Given the description of an element on the screen output the (x, y) to click on. 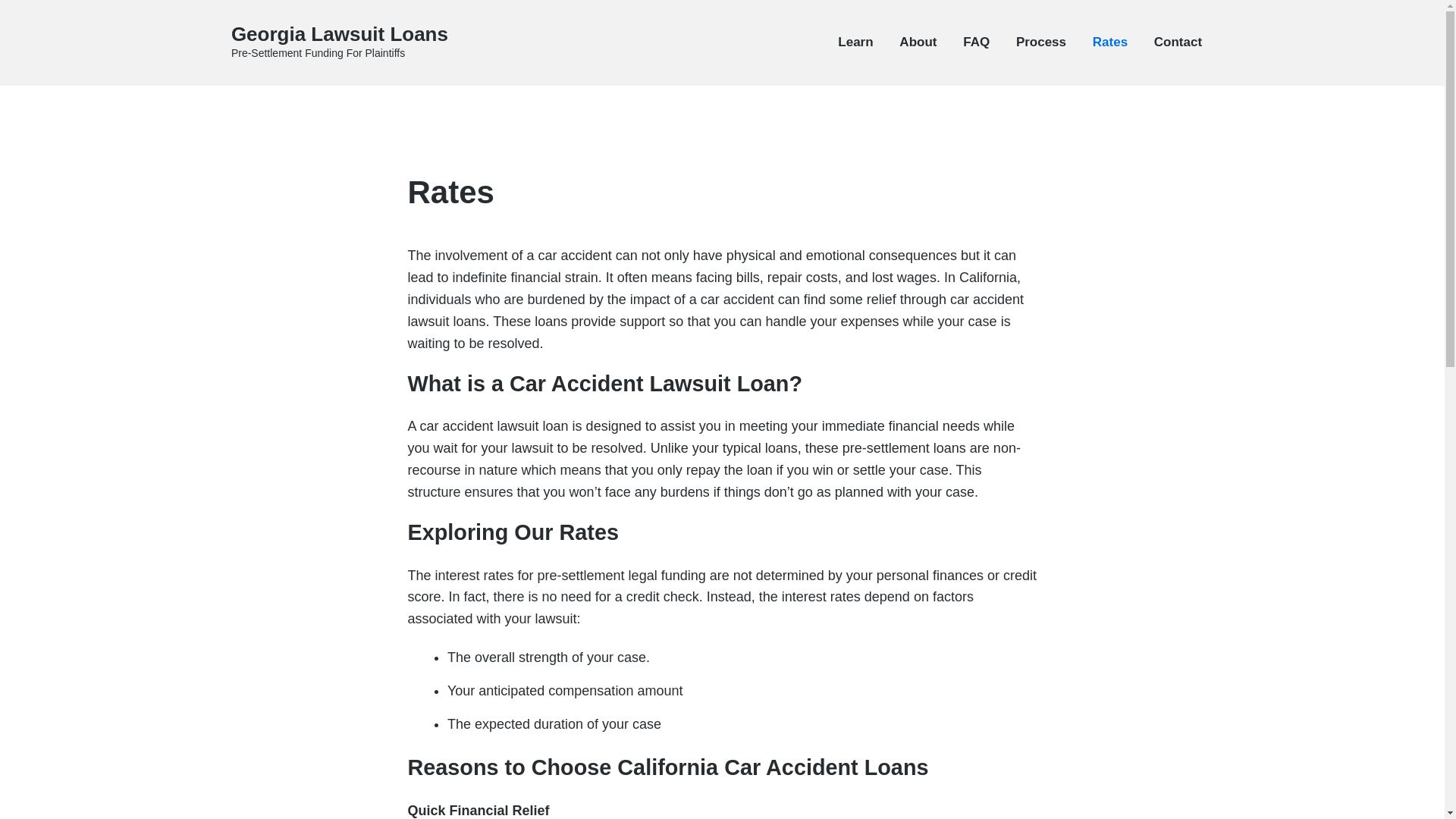
Contact (1178, 42)
Georgia Lawsuit Loans (339, 33)
Process (1040, 42)
Rates (1109, 42)
Learn (855, 42)
About (917, 42)
FAQ (976, 42)
